Given the description of an element on the screen output the (x, y) to click on. 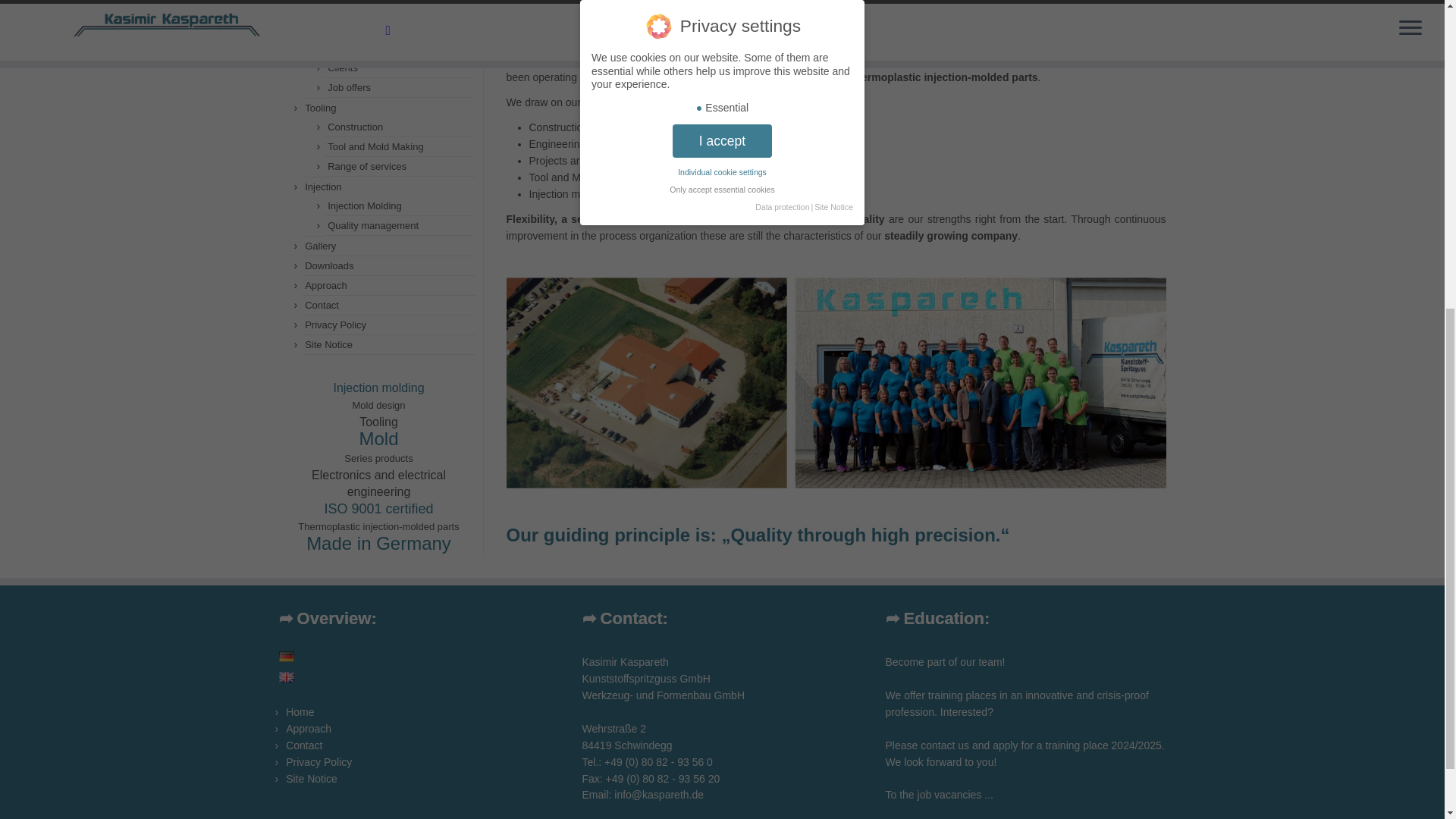
About us (346, 8)
Job offers (349, 87)
Construction (354, 126)
Tooling (320, 107)
Contact Person (361, 48)
Kaspareth (286, 676)
Range of services (366, 165)
Injection (322, 186)
Timeline (346, 28)
Clients (342, 67)
Tool and Mold Making (375, 146)
